Given the description of an element on the screen output the (x, y) to click on. 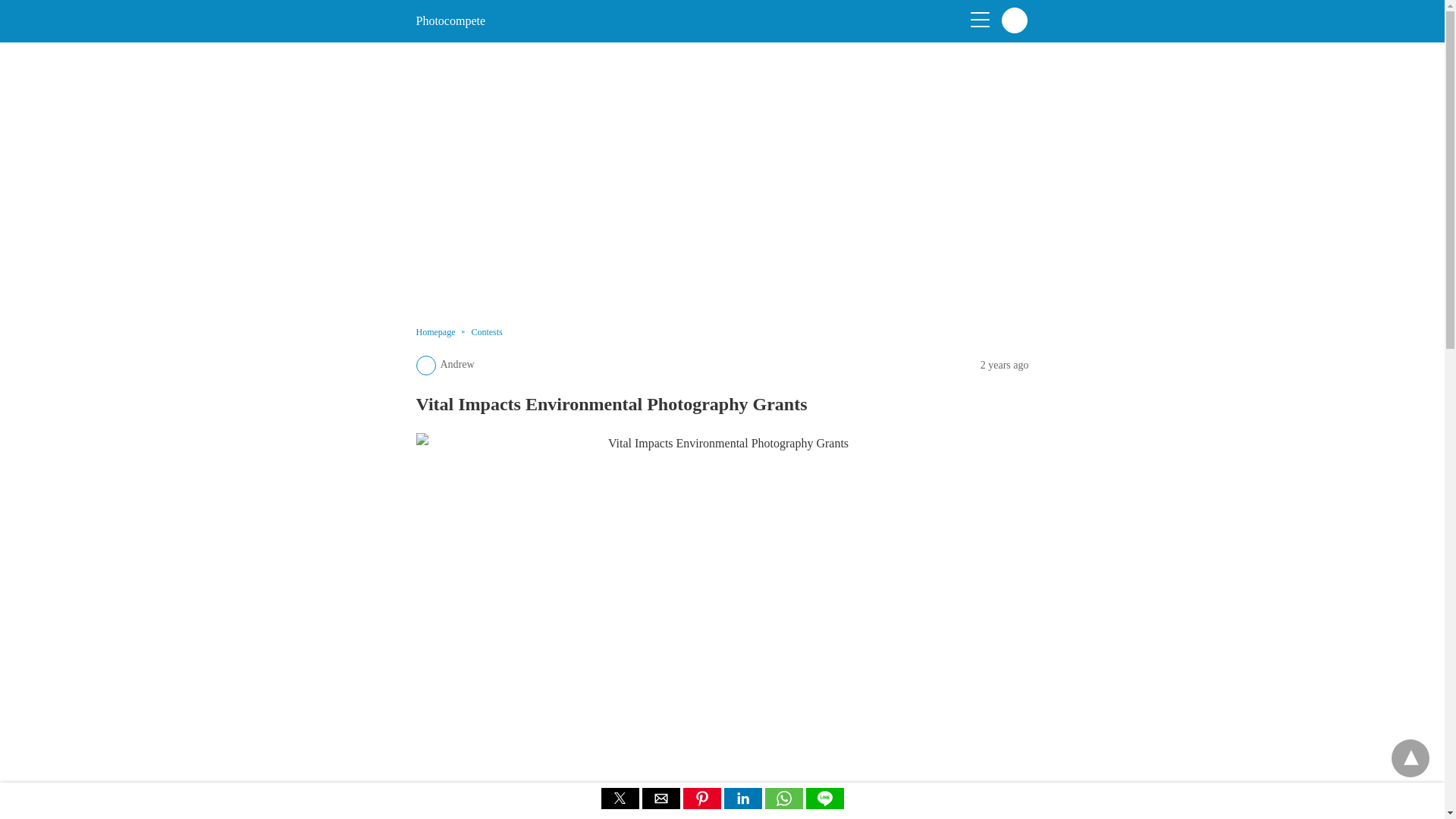
back to top (1410, 758)
Contests (486, 331)
Photocompete (449, 20)
Homepage (442, 331)
line share (824, 804)
whatsapp share (784, 804)
Homepage (442, 331)
Contests (486, 331)
